Given the description of an element on the screen output the (x, y) to click on. 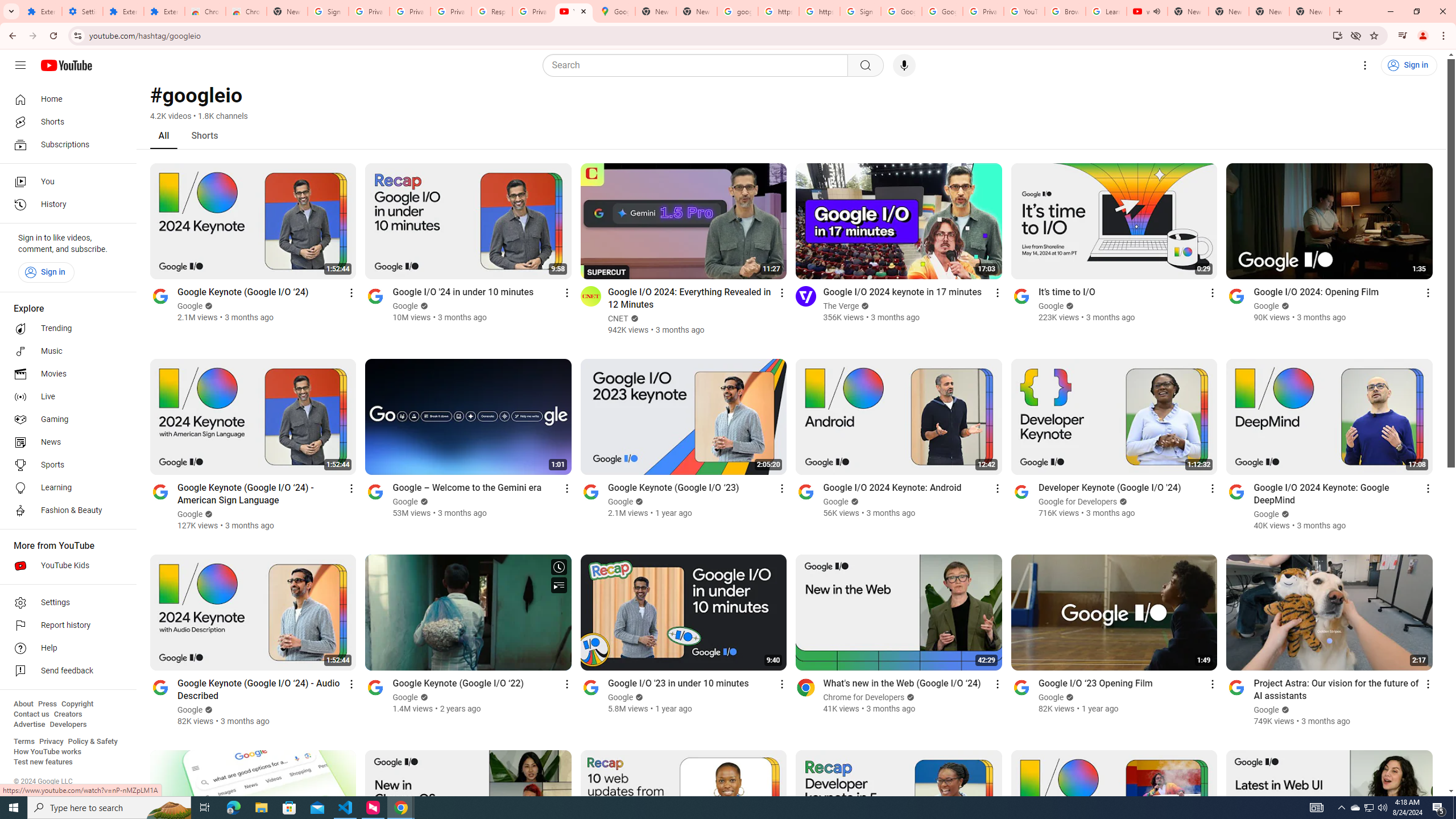
Extensions (163, 11)
https://scholar.google.com/ (818, 11)
Fashion & Beauty (64, 510)
Browse Chrome as a guest - Computer - Google Chrome Help (1064, 11)
About (23, 703)
Send feedback (64, 671)
Google (1266, 709)
Creators (67, 714)
Go to channel (1236, 686)
